Given the description of an element on the screen output the (x, y) to click on. 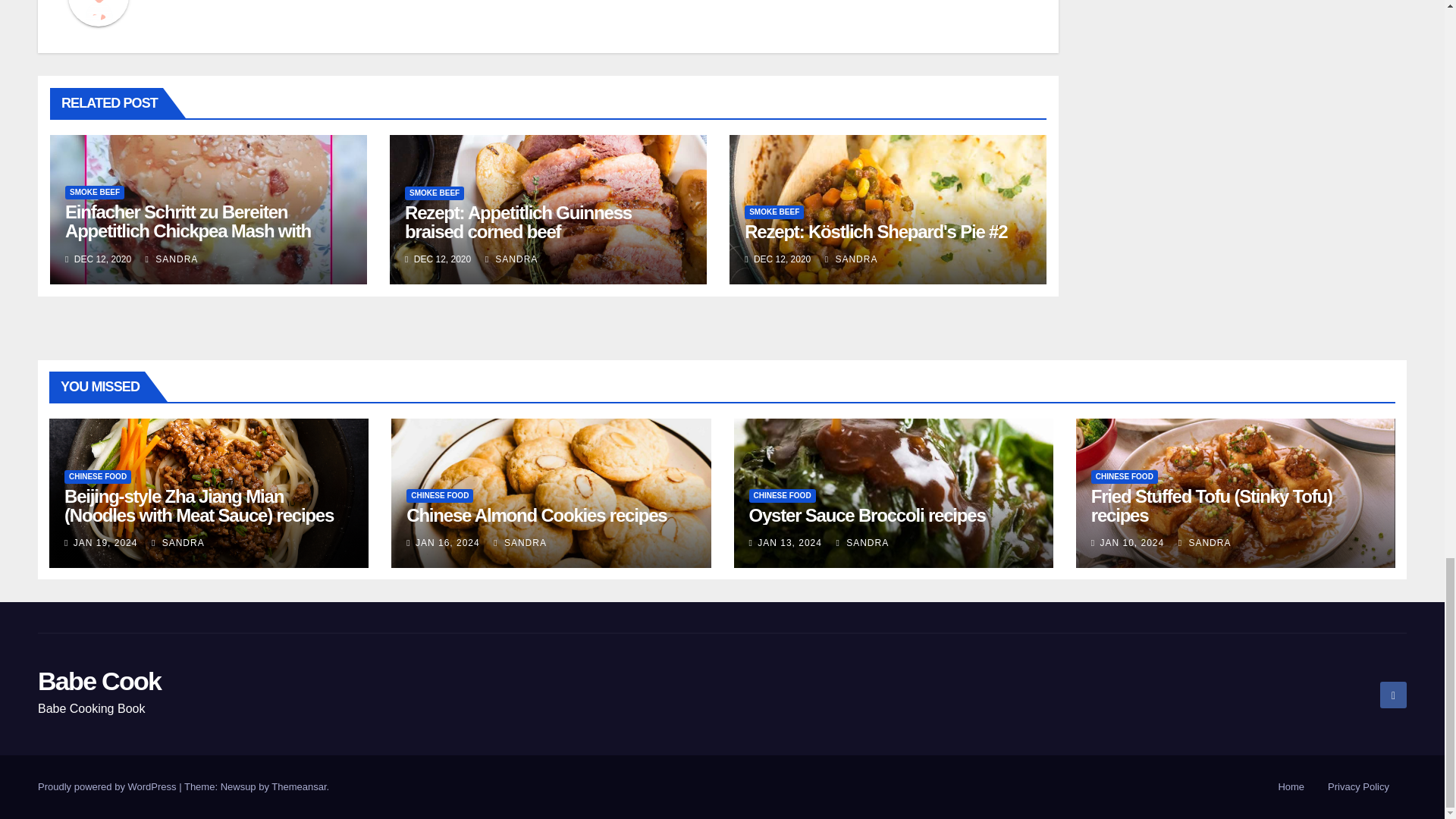
SANDRA (171, 258)
SANDRA (511, 258)
Rezept: Appetitlich Guinness braised corned beef (517, 221)
SANDRA (851, 258)
SMOKE BEEF (434, 192)
SMOKE BEEF (773, 212)
SMOKE BEEF (94, 192)
